Given the description of an element on the screen output the (x, y) to click on. 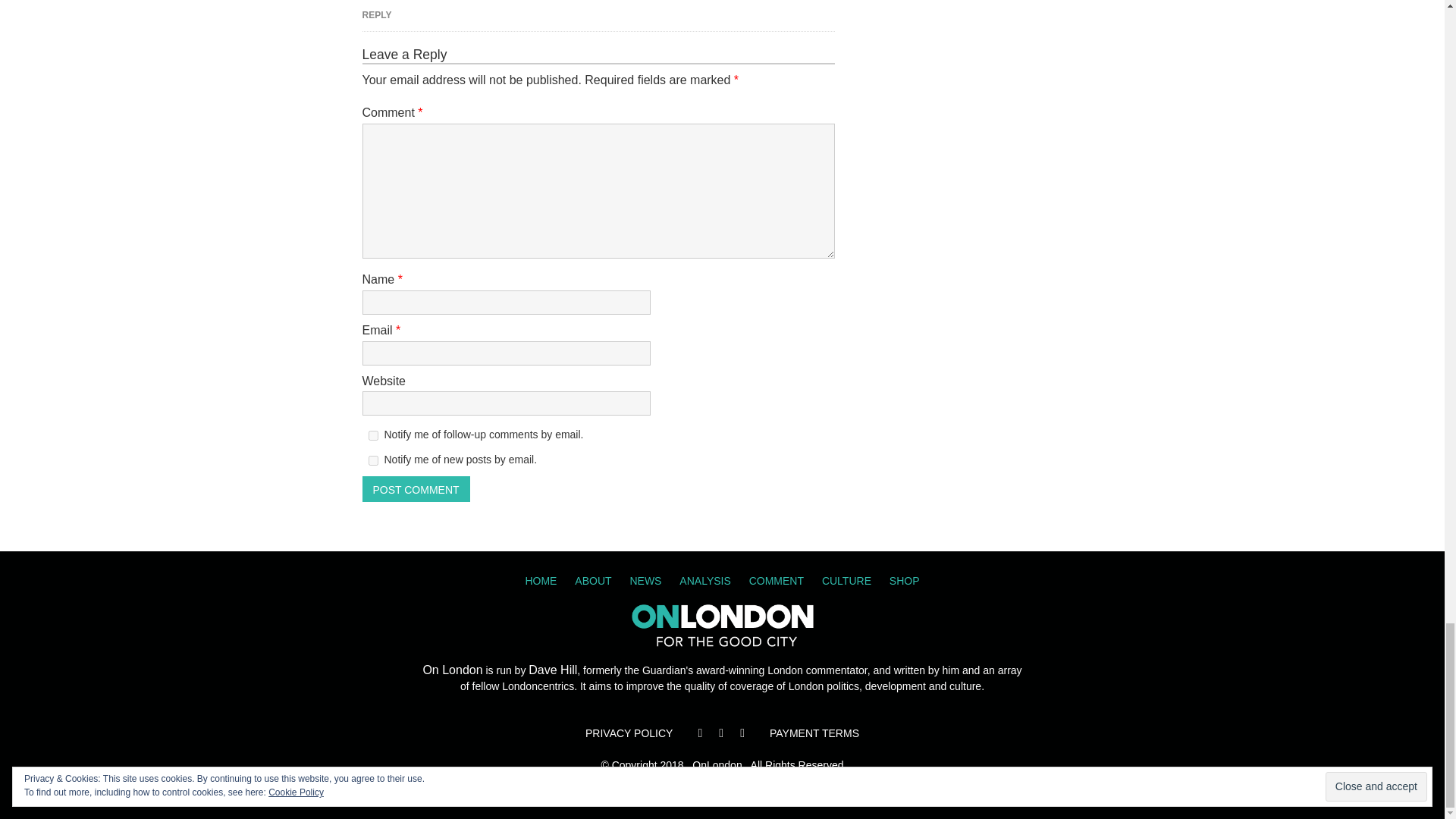
Post Comment (416, 488)
subscribe (373, 435)
subscribe (373, 460)
